Given the description of an element on the screen output the (x, y) to click on. 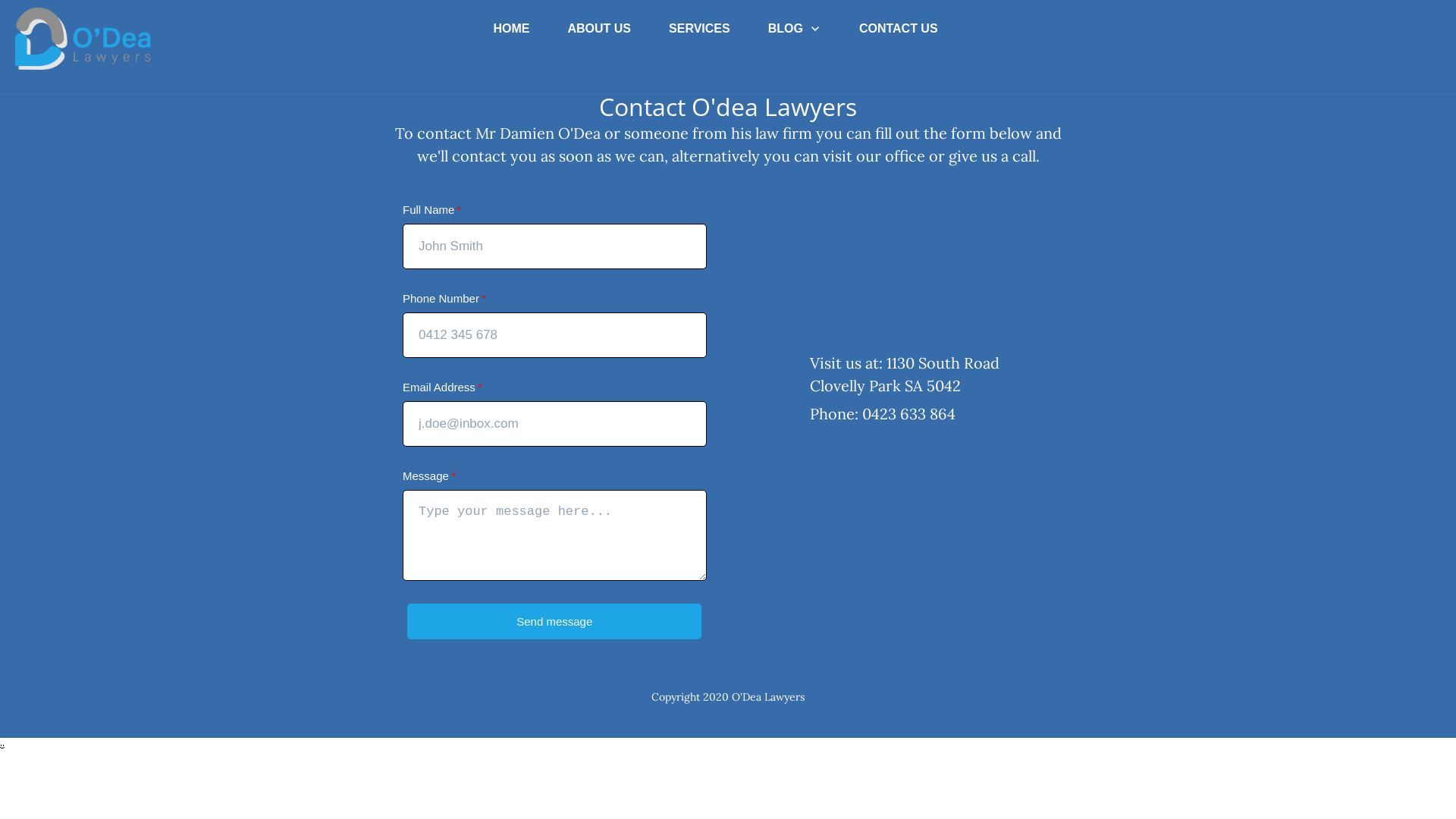
ABOUT US Element type: text (598, 28)
CONTACT US Element type: text (898, 28)
Send message Element type: text (554, 621)
SERVICES Element type: text (699, 28)
0423 633 864 Element type: text (907, 413)
HOME Element type: text (510, 28)
BLOG Element type: text (794, 28)
